Given the description of an element on the screen output the (x, y) to click on. 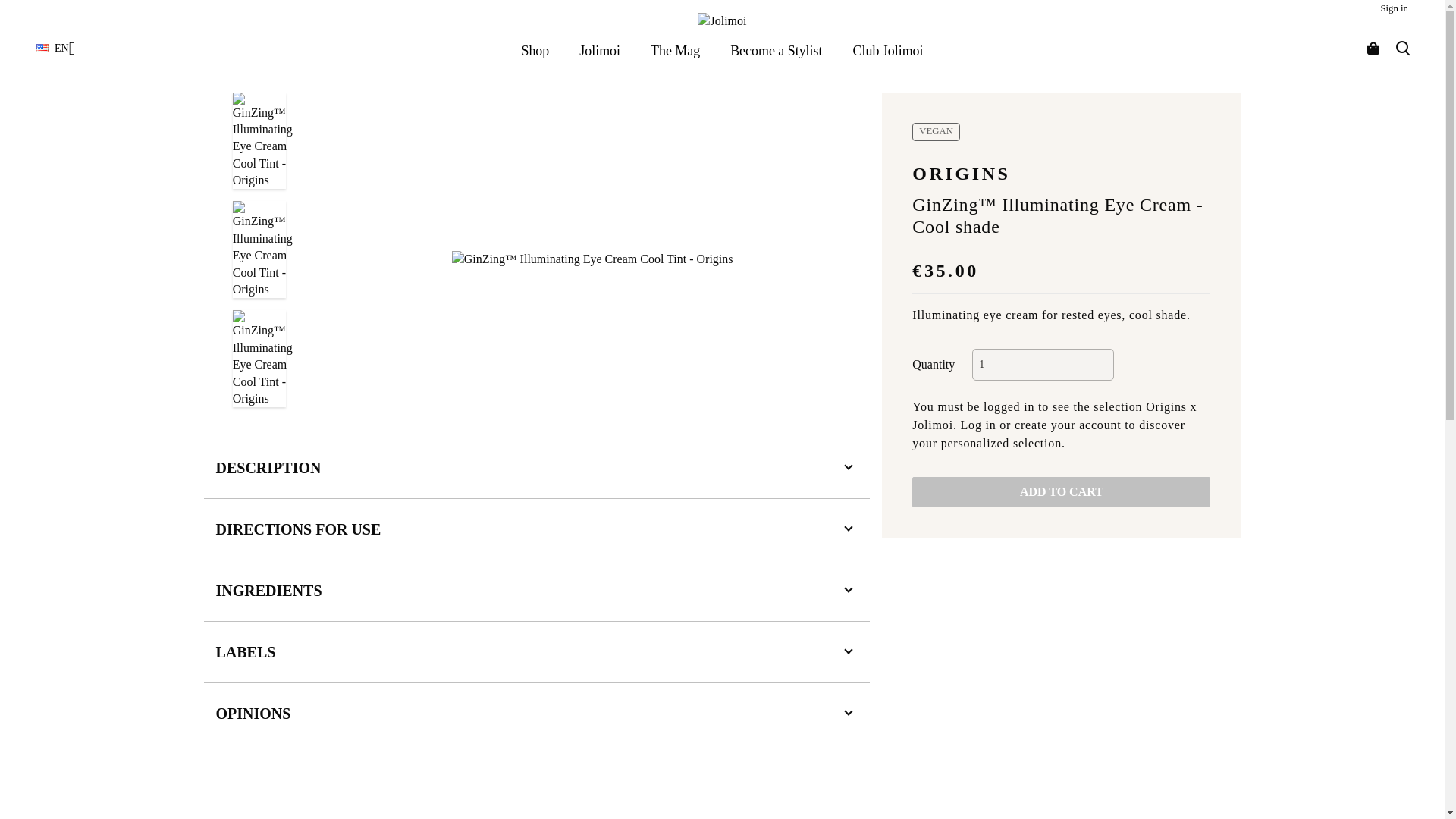
Shop (534, 50)
1 (1042, 364)
Log in to your customer account (1393, 8)
